Given the description of an element on the screen output the (x, y) to click on. 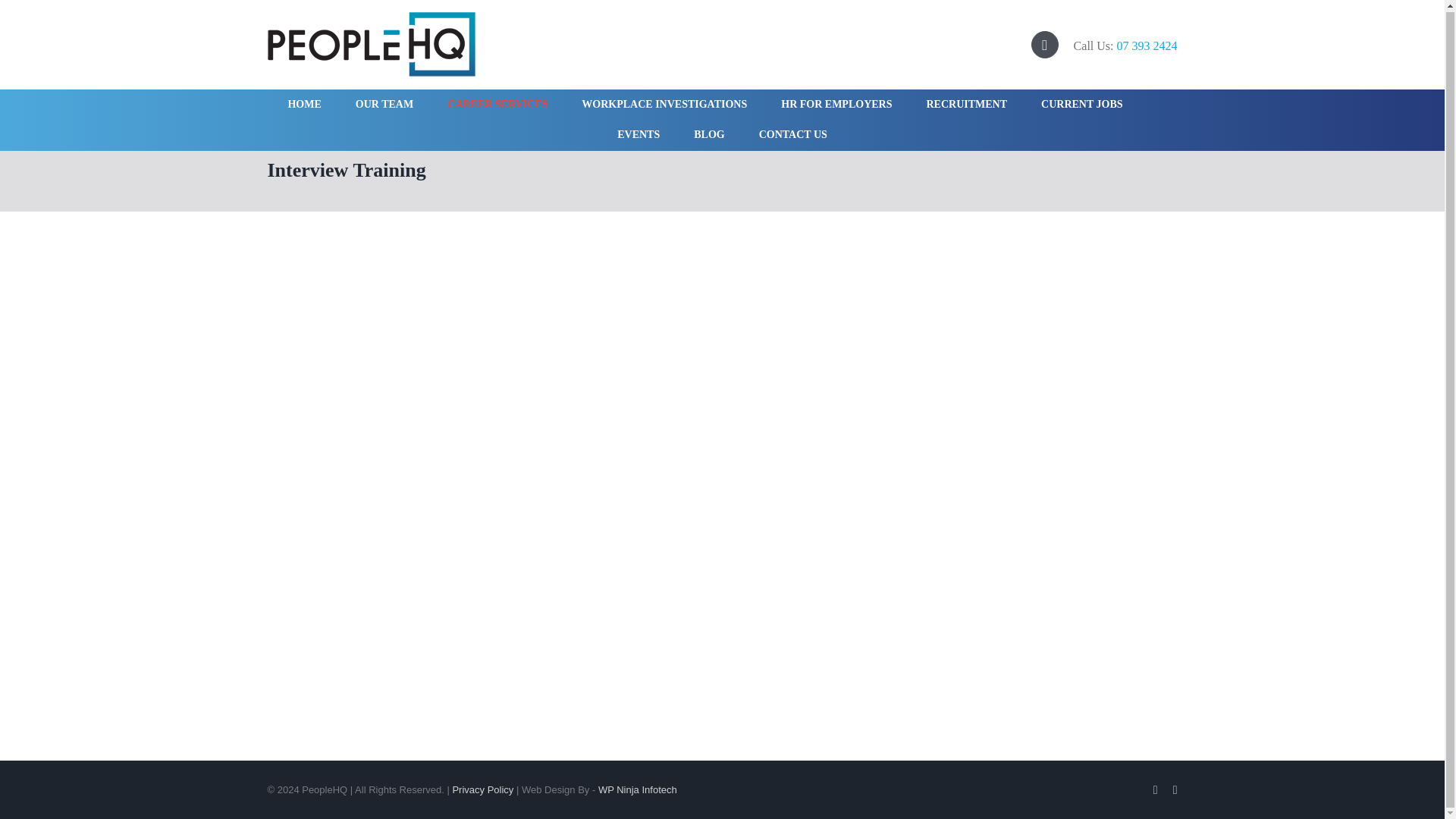
RECRUITMENT (966, 104)
CONTACT US (792, 134)
07 393 2424 (1146, 45)
WP Ninja Infotech (637, 788)
EVENTS (638, 134)
BLOG (708, 134)
OUR TEAM (384, 104)
CURRENT JOBS (1081, 104)
HOME (303, 104)
Privacy Policy (482, 788)
WORKPLACE INVESTIGATIONS (663, 104)
CAREER SERVICES (496, 104)
HR FOR EMPLOYERS (835, 104)
